Given the description of an element on the screen output the (x, y) to click on. 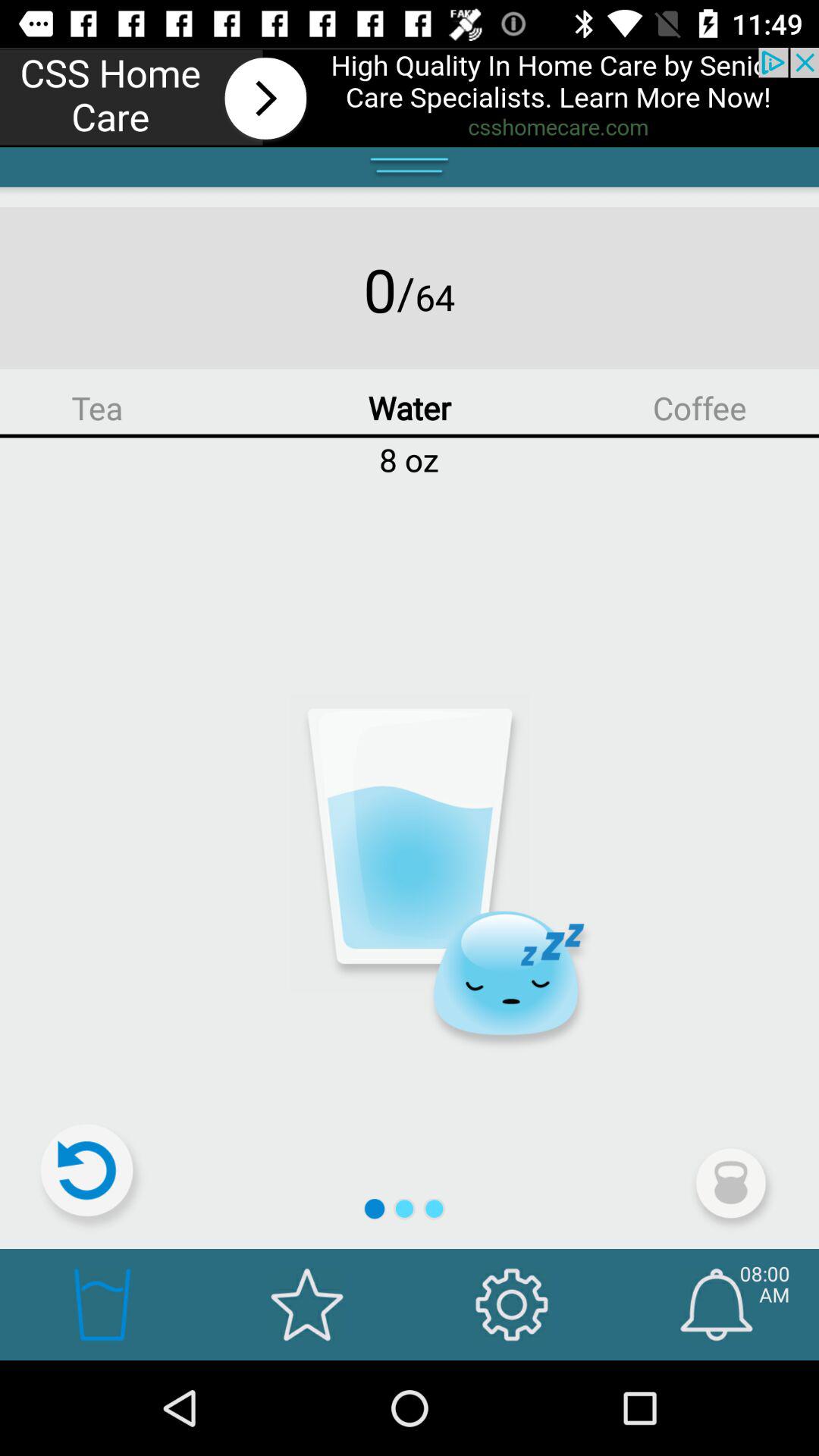
refresh (93, 1177)
